Given the description of an element on the screen output the (x, y) to click on. 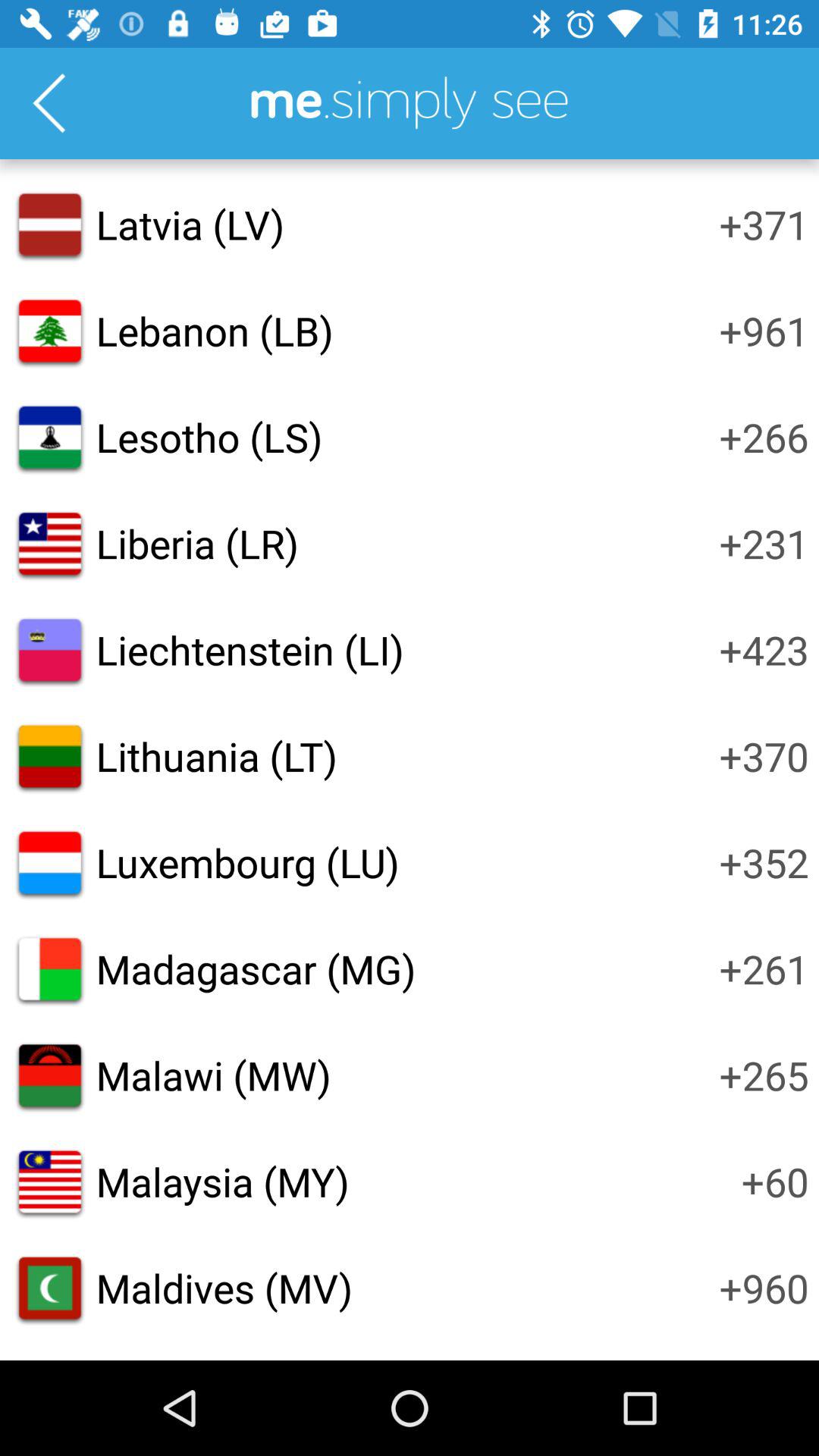
open the icon to the left of the +265 icon (213, 1074)
